Given the description of an element on the screen output the (x, y) to click on. 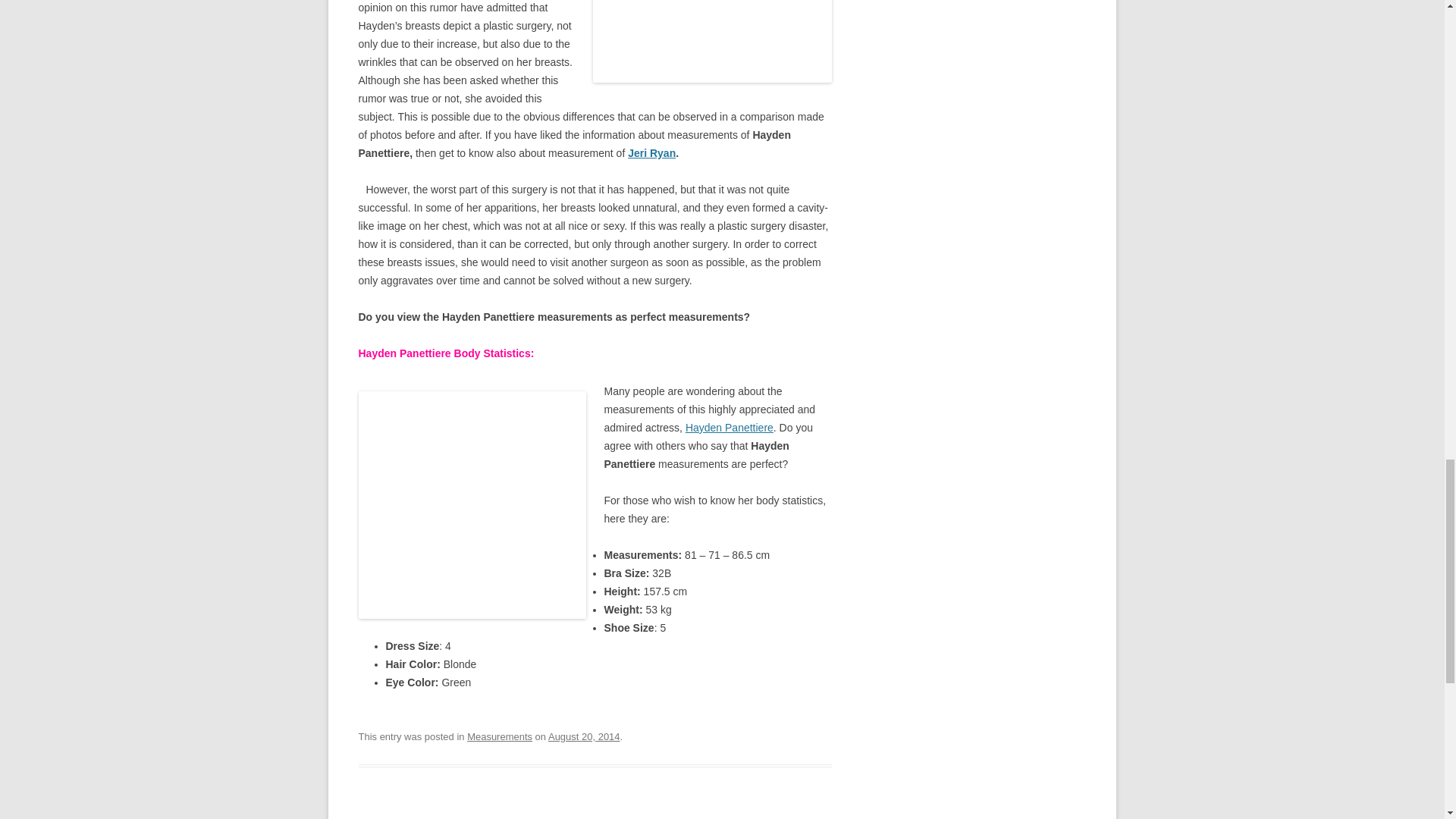
August 20, 2014 (584, 736)
Measurements (499, 736)
hayden panettiere twitter (729, 427)
Hayden Panettiere (729, 427)
Jeri Ryan (651, 152)
Jeri Ryan Measurements (651, 152)
8:31 pm (584, 736)
Hayden Panettiere Measurements  (471, 505)
